Given the description of an element on the screen output the (x, y) to click on. 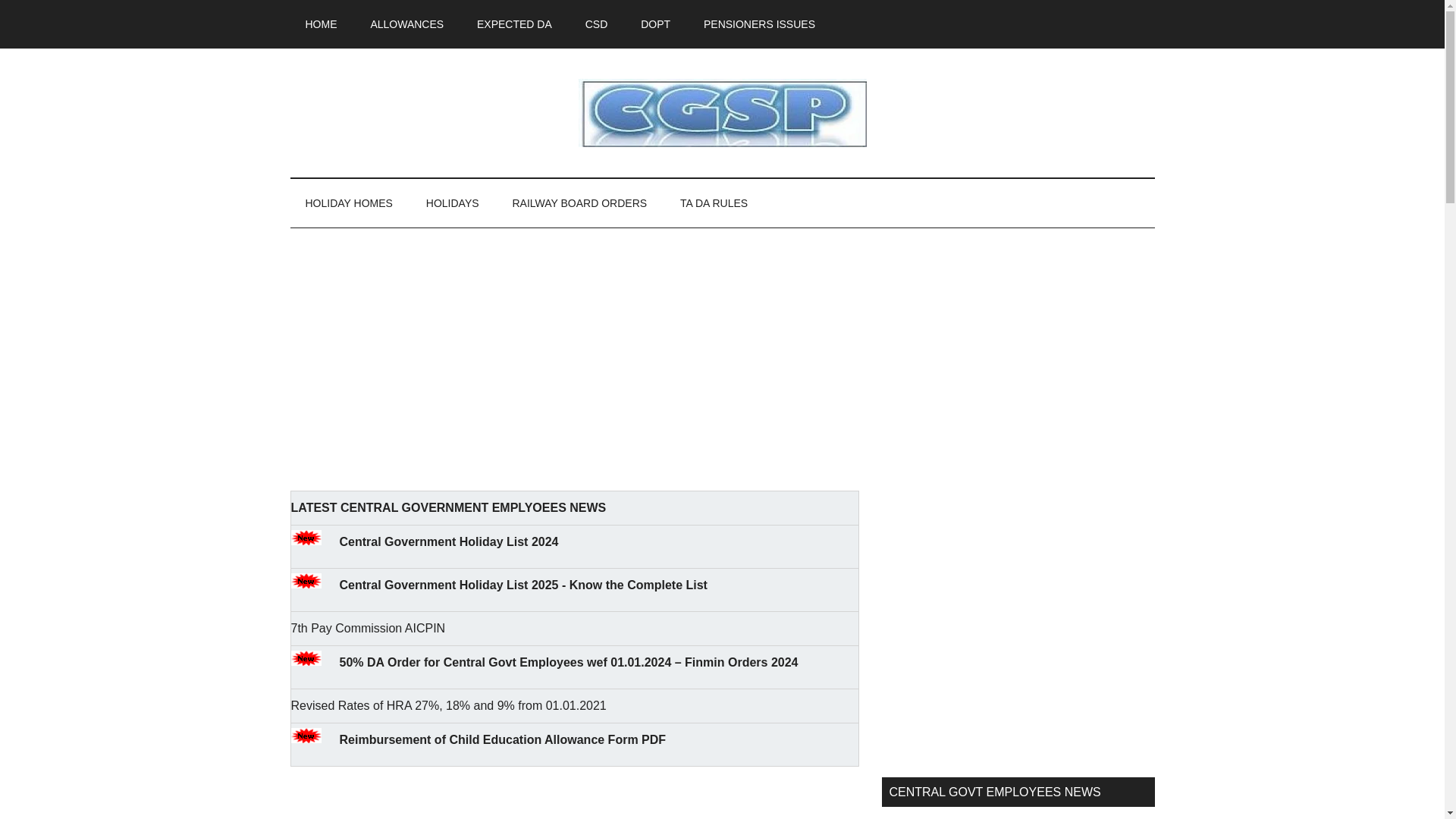
Central Government Holiday List 2024 (449, 541)
CENTRAL GOVT EMPLOYEES NEWS (721, 112)
ALLOWANCES (406, 24)
RAILWAY BOARD ORDERS (579, 203)
PENSIONERS ISSUES (758, 24)
DOPT (655, 24)
HOLIDAY HOMES (348, 203)
EXPECTED DA (514, 24)
HOME (320, 24)
